Given the description of an element on the screen output the (x, y) to click on. 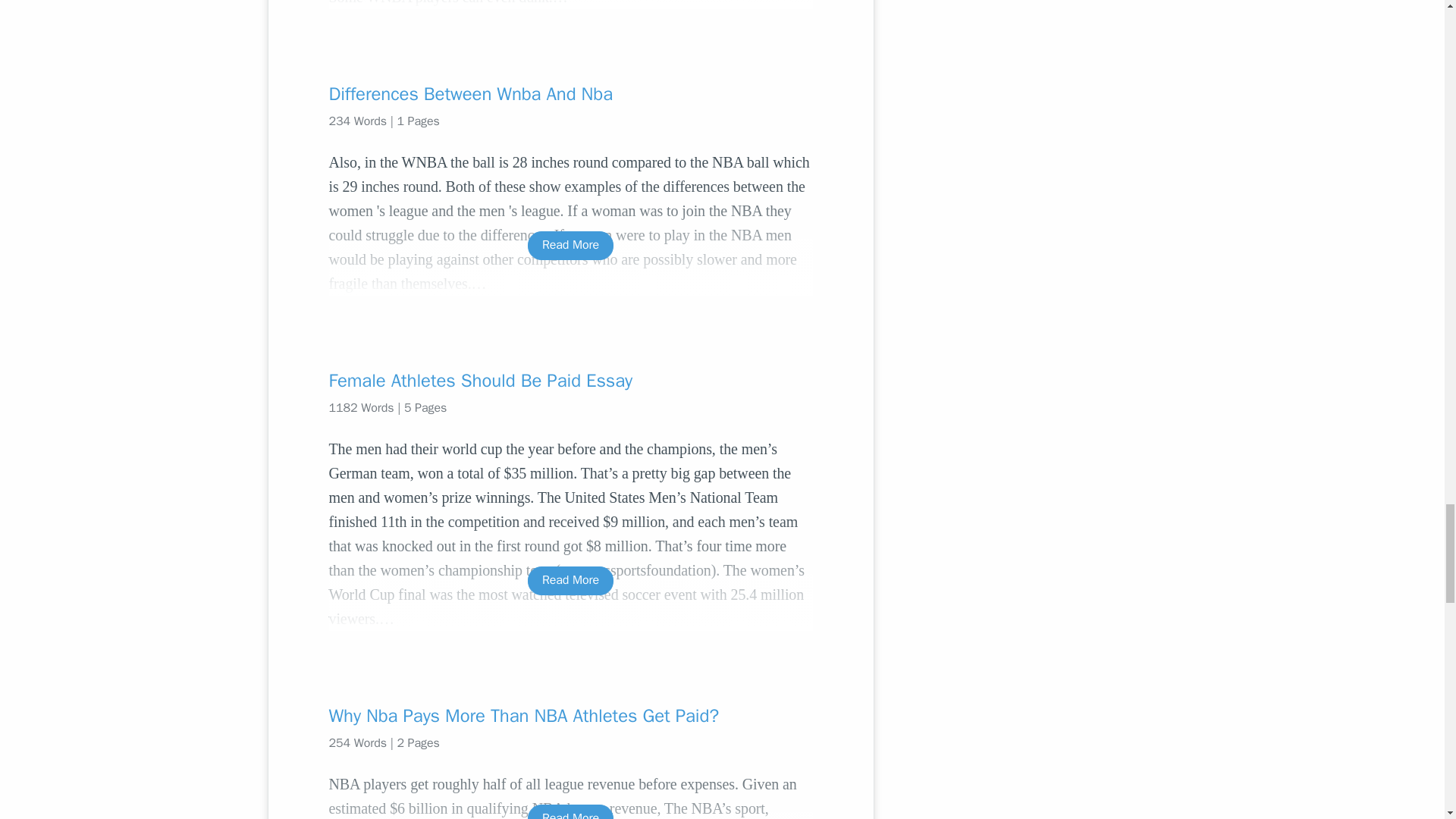
Female Athletes Should Be Paid Essay (570, 380)
Differences Between Wnba And Nba (570, 93)
Read More (569, 580)
Read More (569, 244)
